Given the description of an element on the screen output the (x, y) to click on. 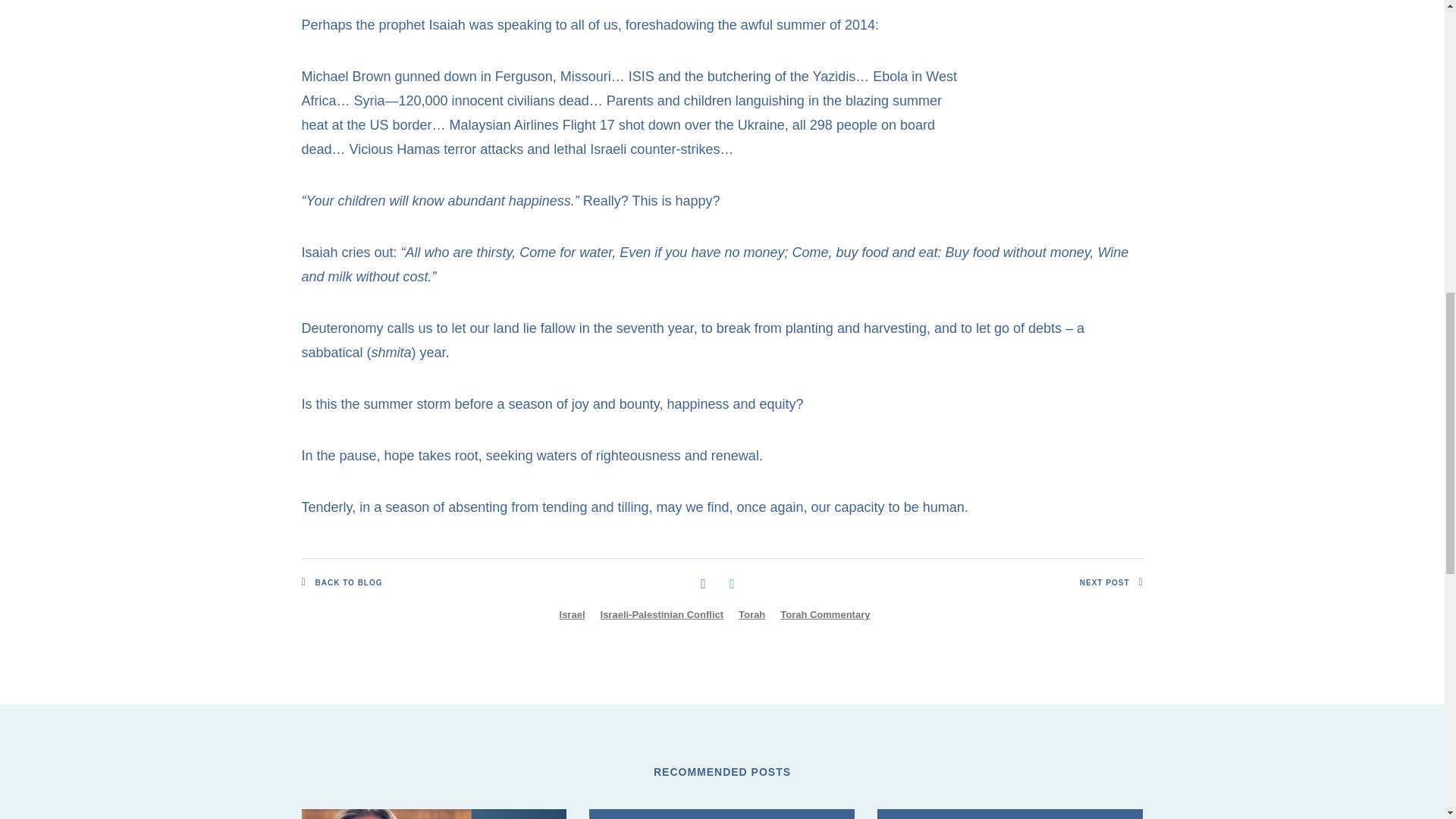
Torah Commentary (825, 614)
Torah (751, 614)
Israel (571, 614)
Linked In (731, 582)
Facebook (702, 582)
Israeli-Palestinian Conflict (662, 614)
